Given the description of an element on the screen output the (x, y) to click on. 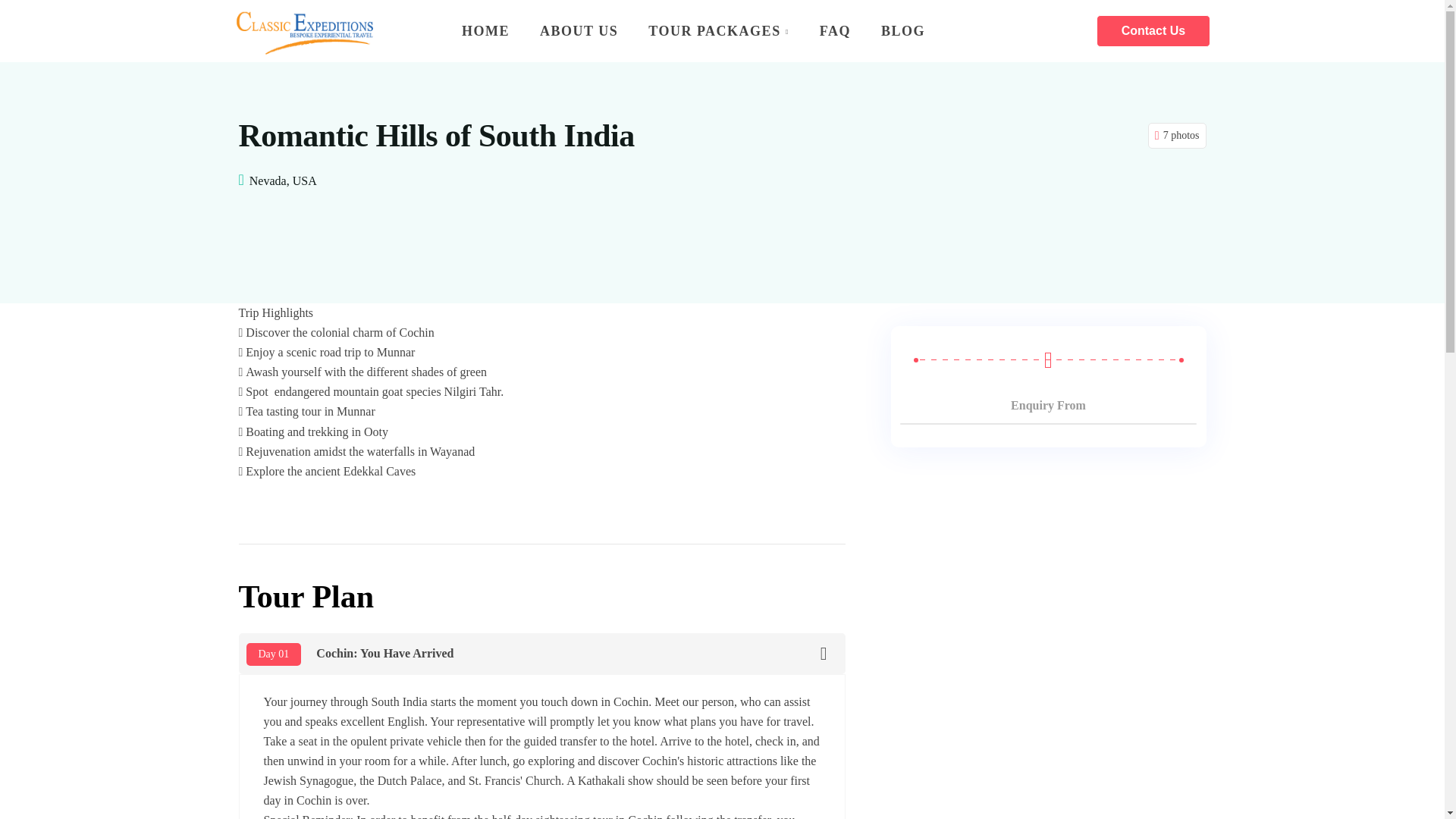
FAQ (835, 30)
Contact Us (1152, 30)
ABOUT US (578, 30)
BLOG (895, 30)
TOUR PACKAGES (718, 30)
Nevada, USA (282, 180)
HOME (485, 30)
